Given the description of an element on the screen output the (x, y) to click on. 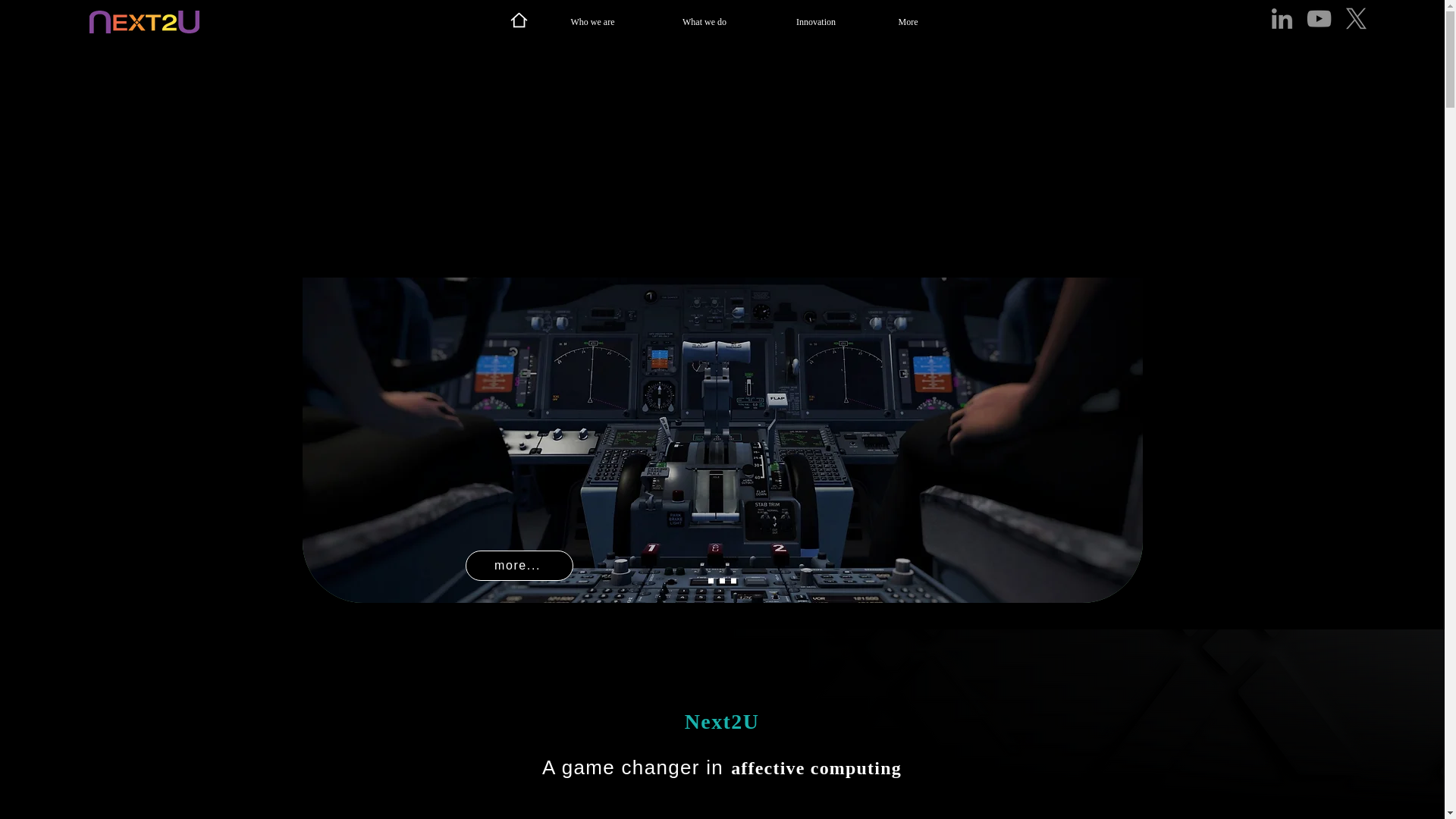
Innovation (815, 21)
more... (519, 565)
What we do (704, 21)
Who we are (593, 21)
